Given the description of an element on the screen output the (x, y) to click on. 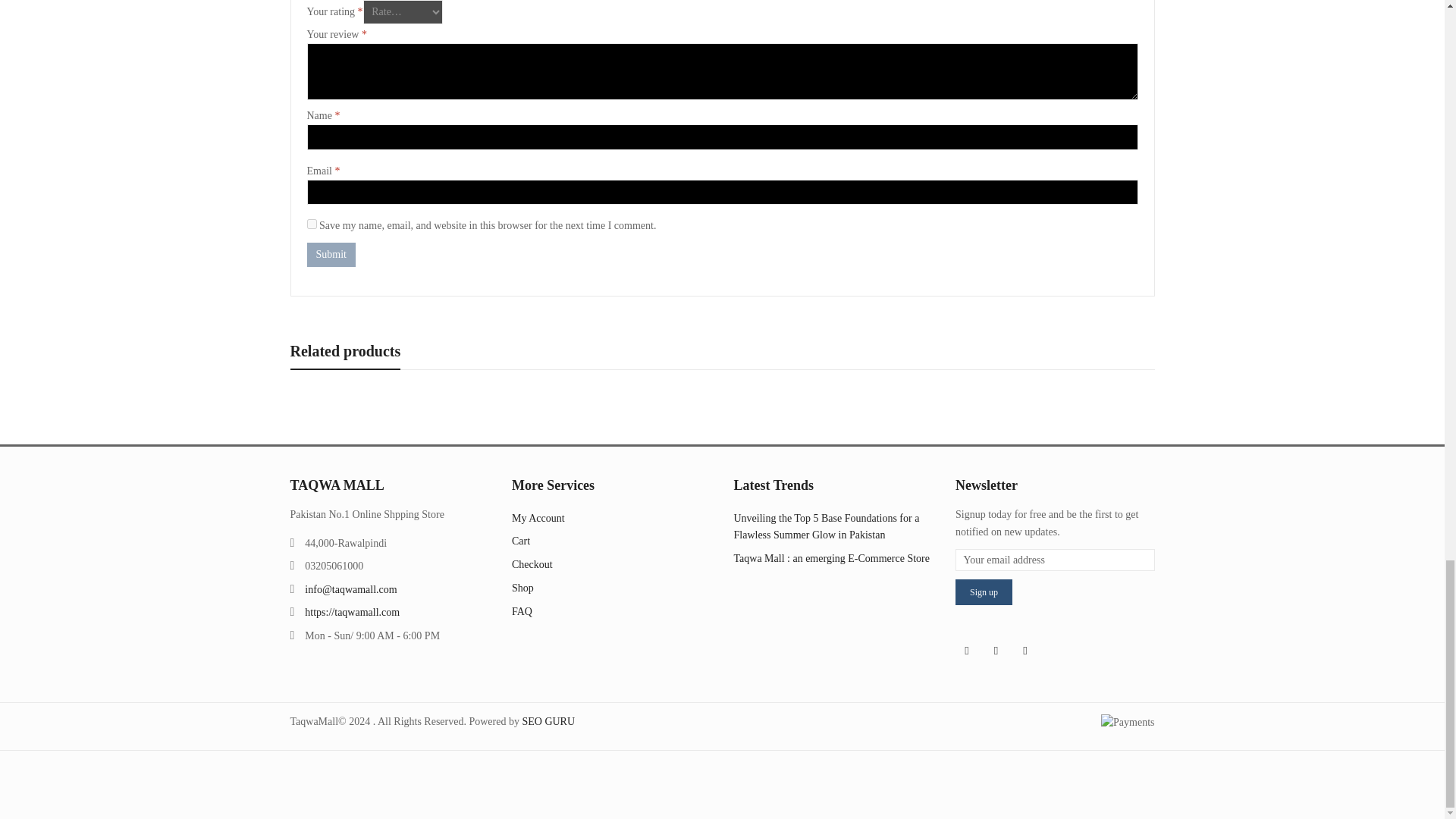
Submit (330, 254)
yes (310, 224)
Sign up (983, 592)
